Given the description of an element on the screen output the (x, y) to click on. 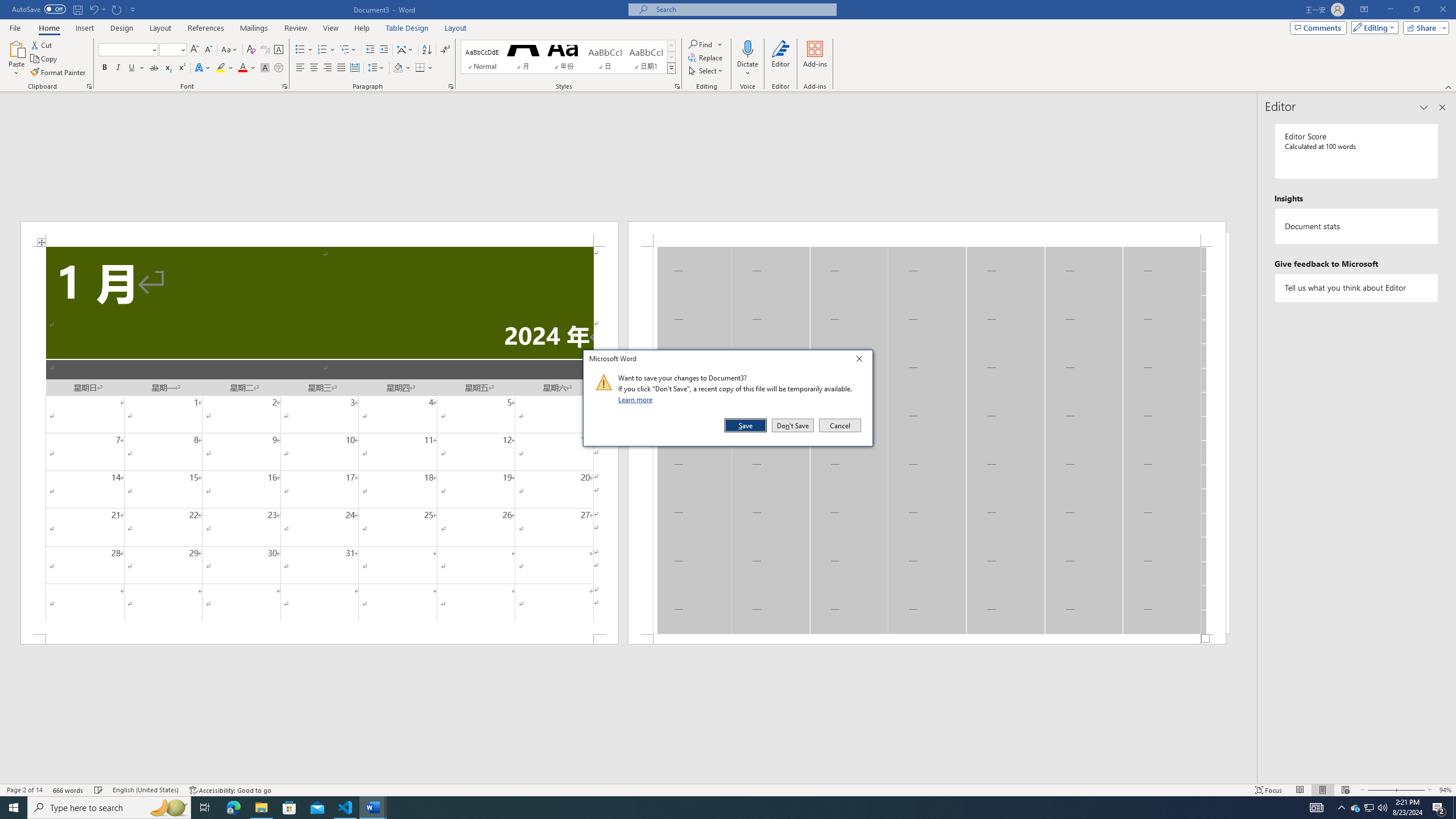
Bullets (304, 49)
